Given the description of an element on the screen output the (x, y) to click on. 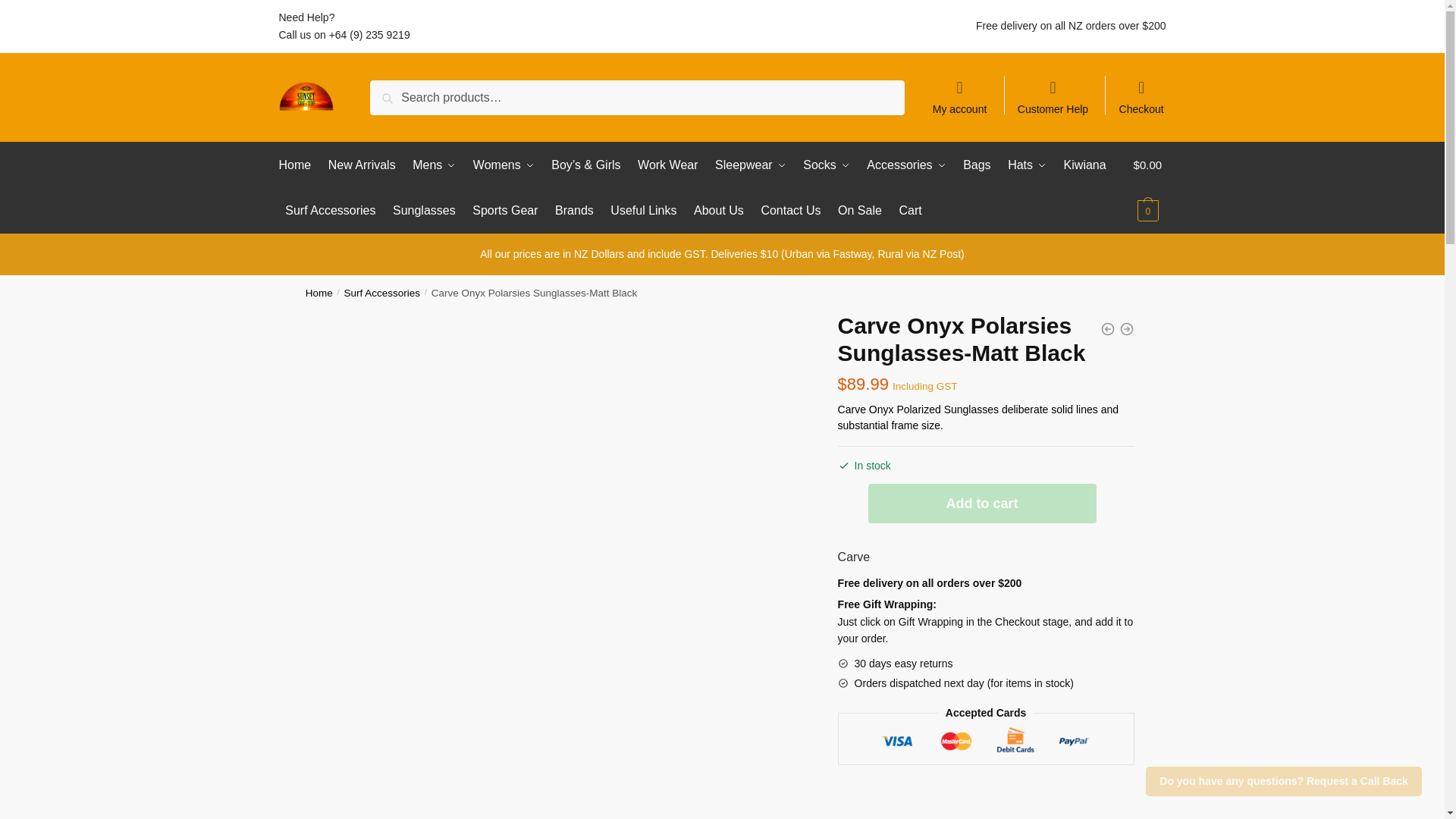
My account (959, 90)
Work Wear (667, 165)
New Arrivals (362, 165)
Mens (434, 165)
Search (393, 90)
Socks (826, 165)
Sleepwear (749, 165)
